Given the description of an element on the screen output the (x, y) to click on. 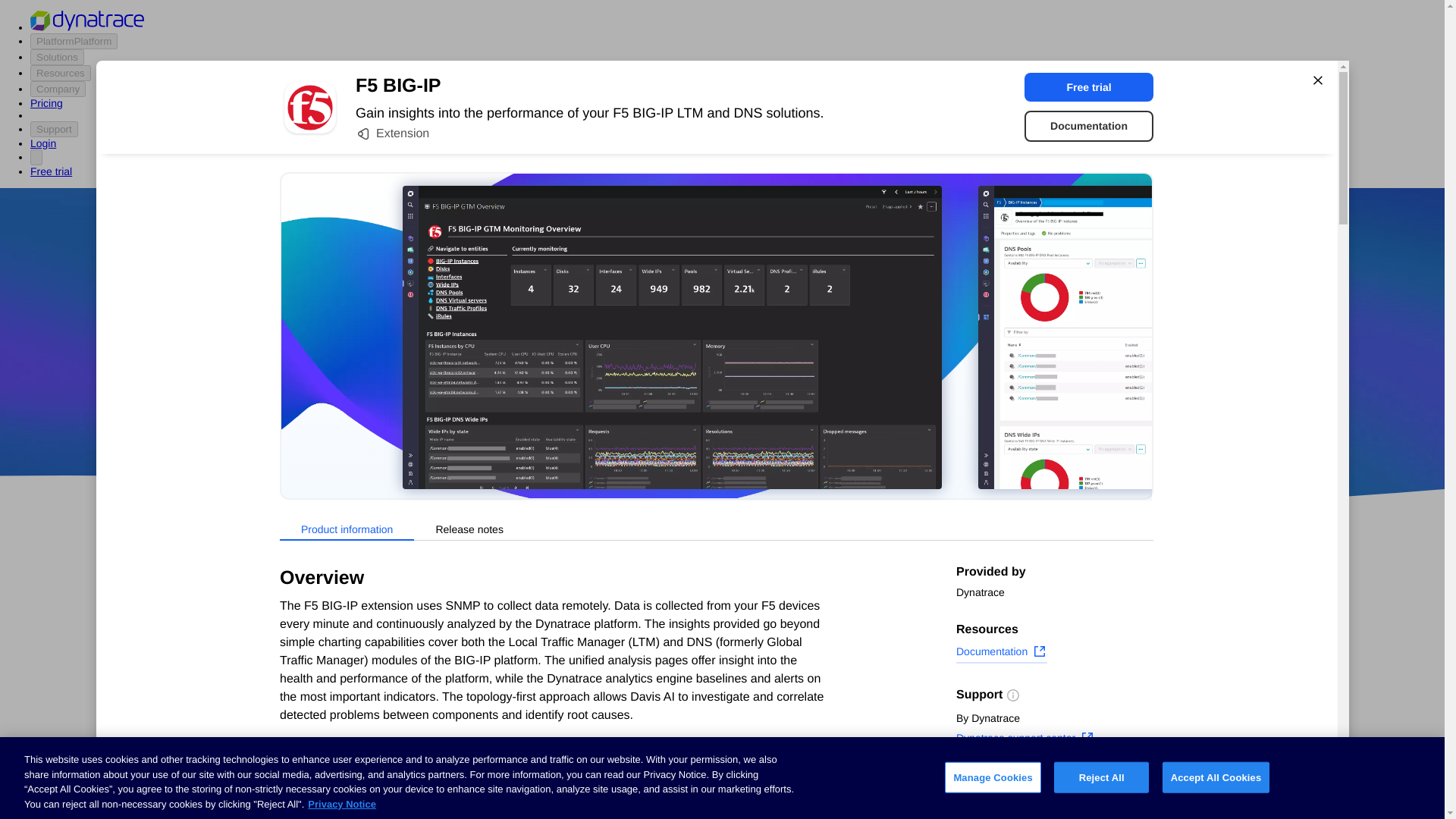
Subscribe to new releases (1054, 782)
360performance (840, 375)
Copy page link (1003, 806)
Dynatrace support center (1025, 740)
AWS (637, 418)
Azure (681, 418)
360performance (840, 375)
Documentation (1001, 653)
Google Cloud (751, 418)
Open source (903, 418)
Advanced SSL Certificate Check for Dynatrace (606, 731)
Documentation (1089, 125)
Free trial (1089, 86)
 certificate ssl synthetic test (607, 793)
DevOps (829, 418)
